Given the description of an element on the screen output the (x, y) to click on. 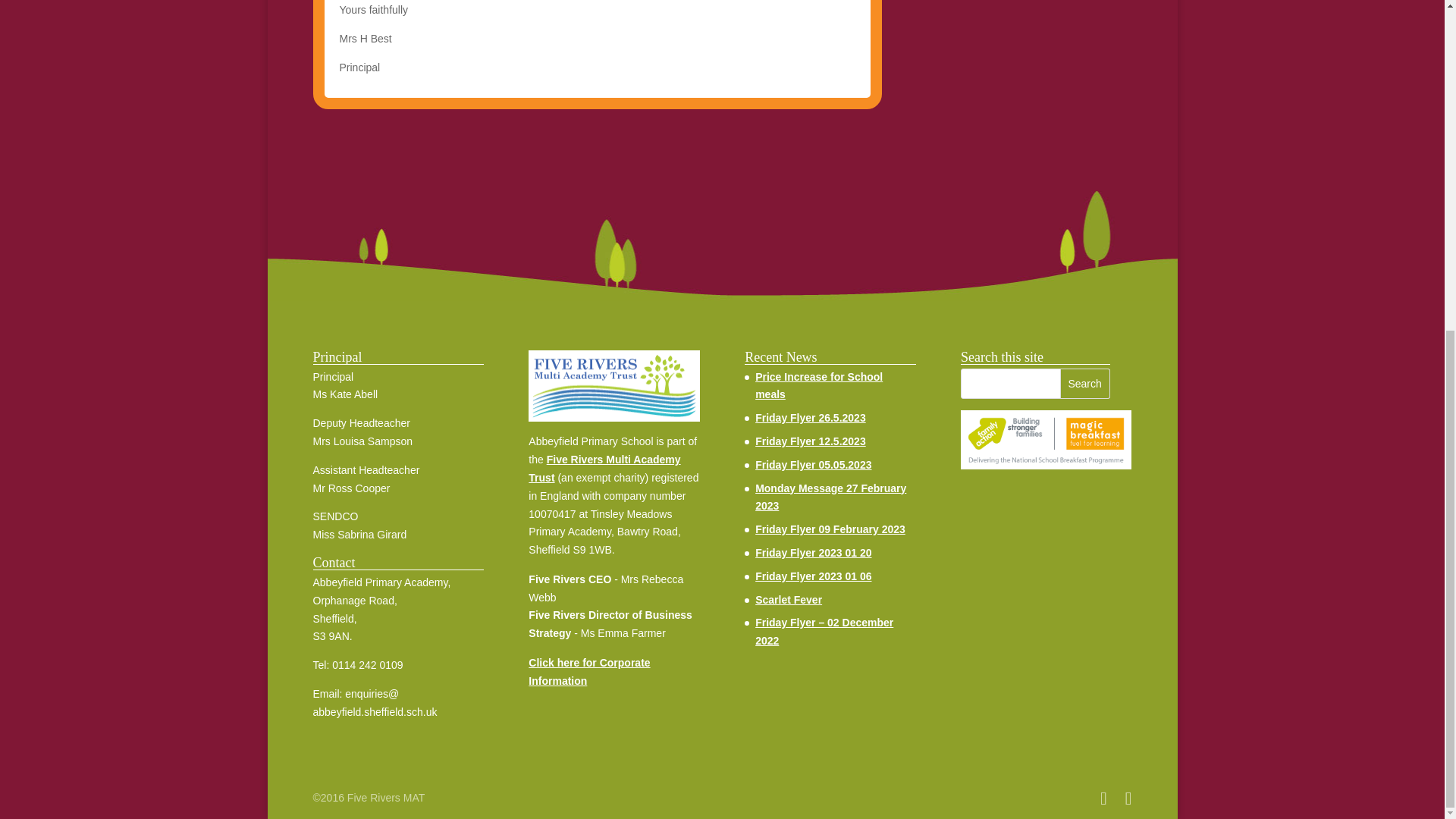
Search (1084, 383)
